Given the description of an element on the screen output the (x, y) to click on. 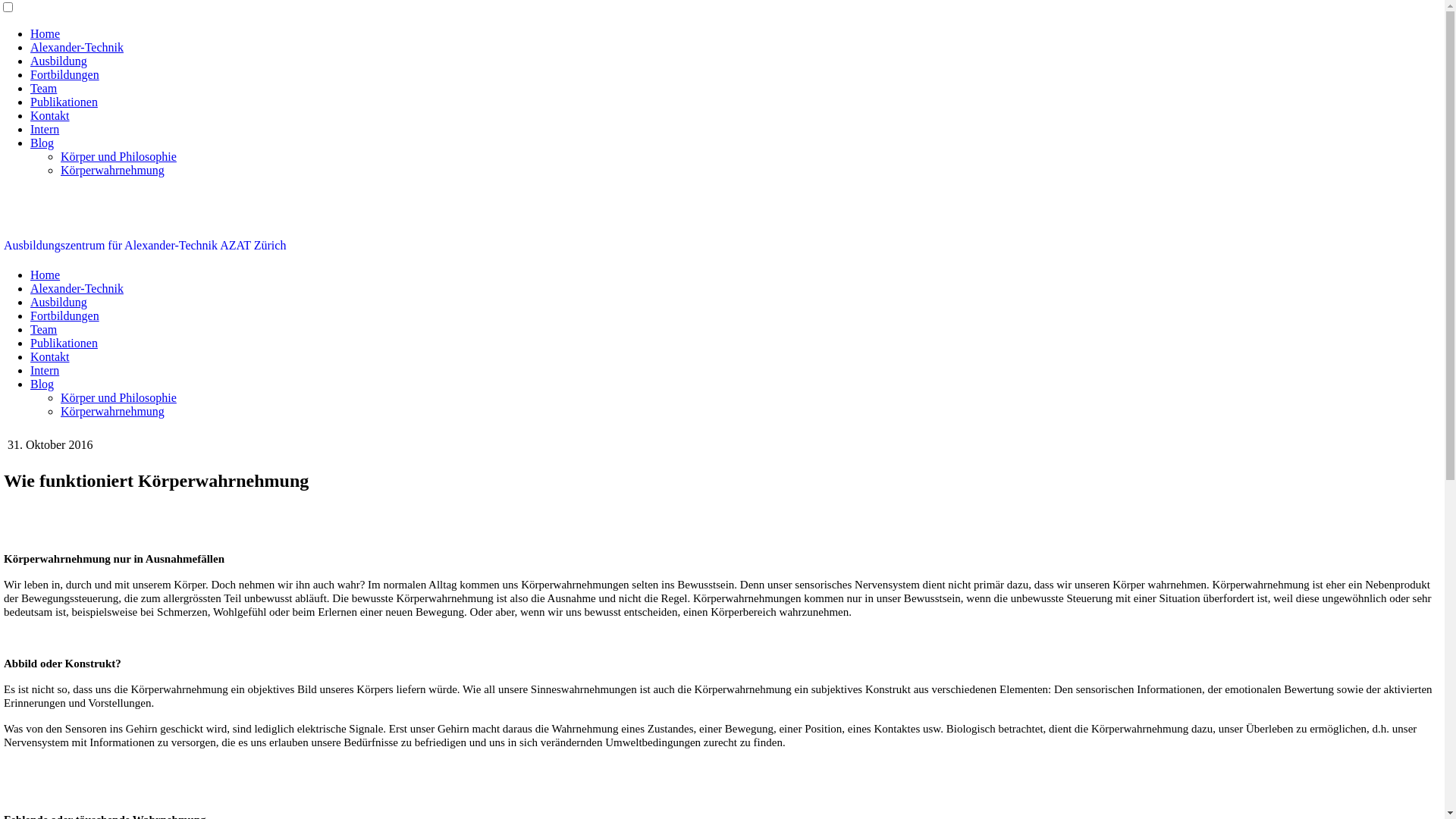
Alexander-Technik Element type: text (76, 288)
Kontakt Element type: text (49, 356)
Fortbildungen Element type: text (64, 315)
Fortbildungen Element type: text (64, 74)
Intern Element type: text (44, 128)
Team Element type: text (43, 87)
Intern Element type: text (44, 370)
Publikationen Element type: text (63, 101)
Alexander-Technik Element type: text (76, 46)
Ausbildung Element type: text (58, 60)
Home Element type: text (44, 33)
Team Element type: text (43, 329)
Publikationen Element type: text (63, 342)
Kontakt Element type: text (49, 115)
Ausbildung Element type: text (58, 301)
Blog Element type: text (41, 383)
Home Element type: text (44, 274)
Blog Element type: text (41, 142)
